Given the description of an element on the screen output the (x, y) to click on. 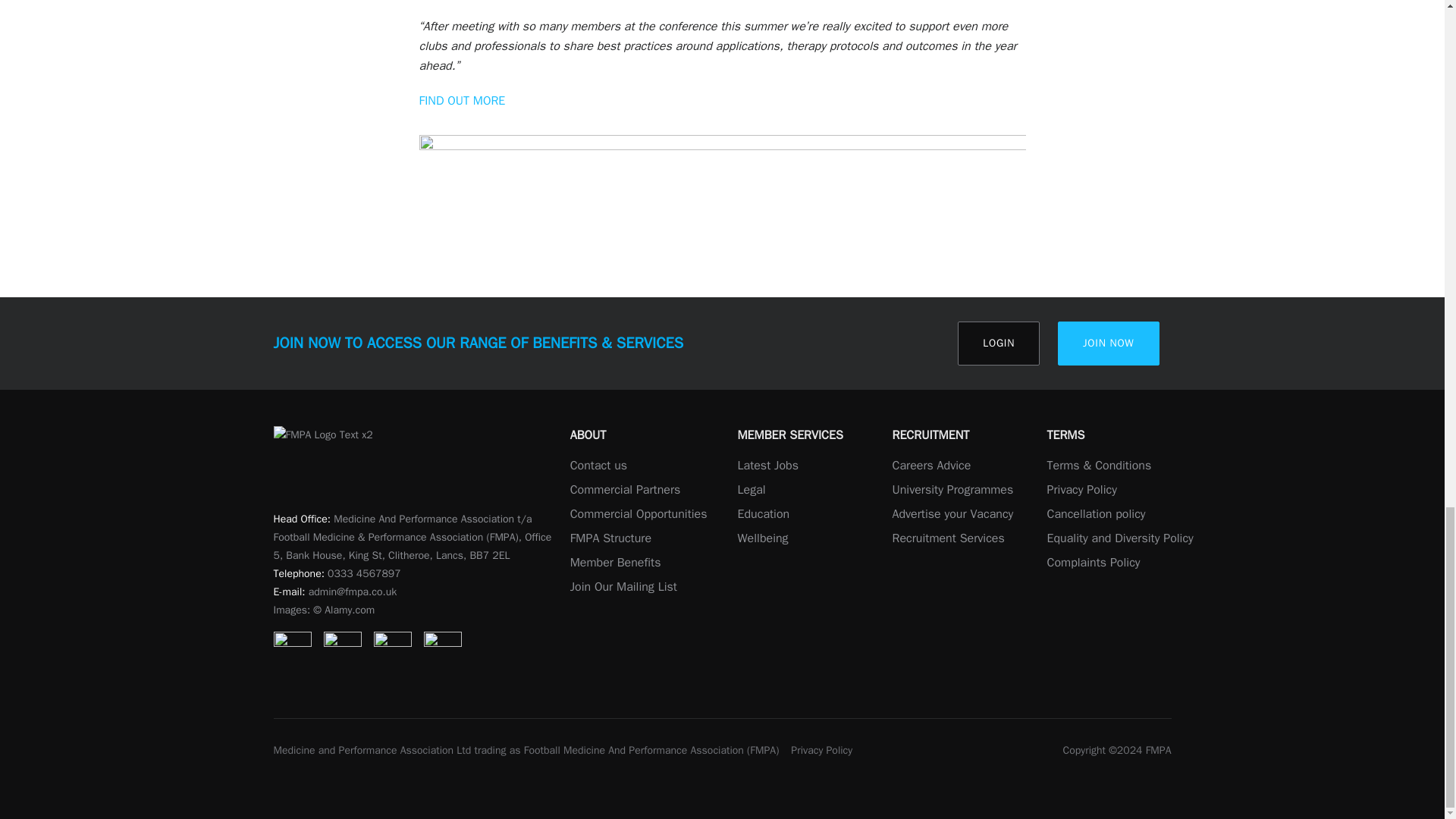
Wellbeing (761, 538)
Privacy Policy (1081, 489)
Commercial Opportunities (638, 513)
Recruitment Services (947, 538)
Latest Jobs (766, 465)
JOIN NOW (1108, 343)
Advertise your Vacancy (952, 513)
Member Benefits (615, 562)
Legal (750, 489)
FIND OUT MORE (462, 100)
Complaints Policy (1093, 562)
University Programmes (952, 489)
Cancellation policy (1095, 513)
Contact us (598, 465)
Commercial Partners (625, 489)
